Given the description of an element on the screen output the (x, y) to click on. 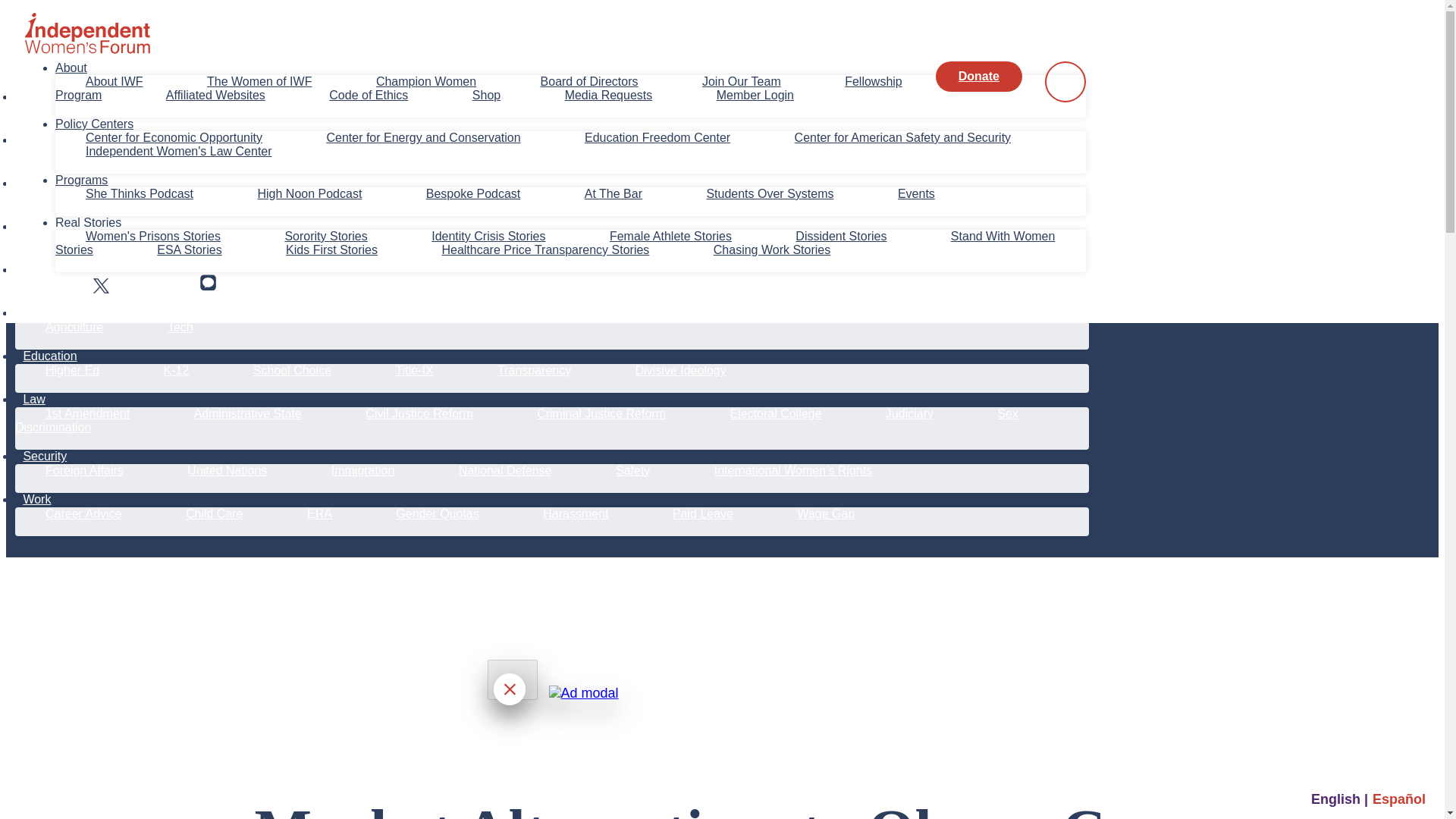
Bespoke Podcast (473, 193)
About IWF (114, 81)
Code of Ethics (368, 94)
Female Athlete Stories (670, 235)
Identity Crisis Stories (488, 235)
Education Freedom Center (657, 137)
Donate (979, 76)
Media Requests (608, 94)
Champion Women (426, 81)
Shop (486, 94)
Sorority Stories (325, 235)
ESA Stories (188, 249)
Affiliated Websites (215, 94)
She Thinks Podcast (139, 193)
The Women of IWF (259, 81)
